Given the description of an element on the screen output the (x, y) to click on. 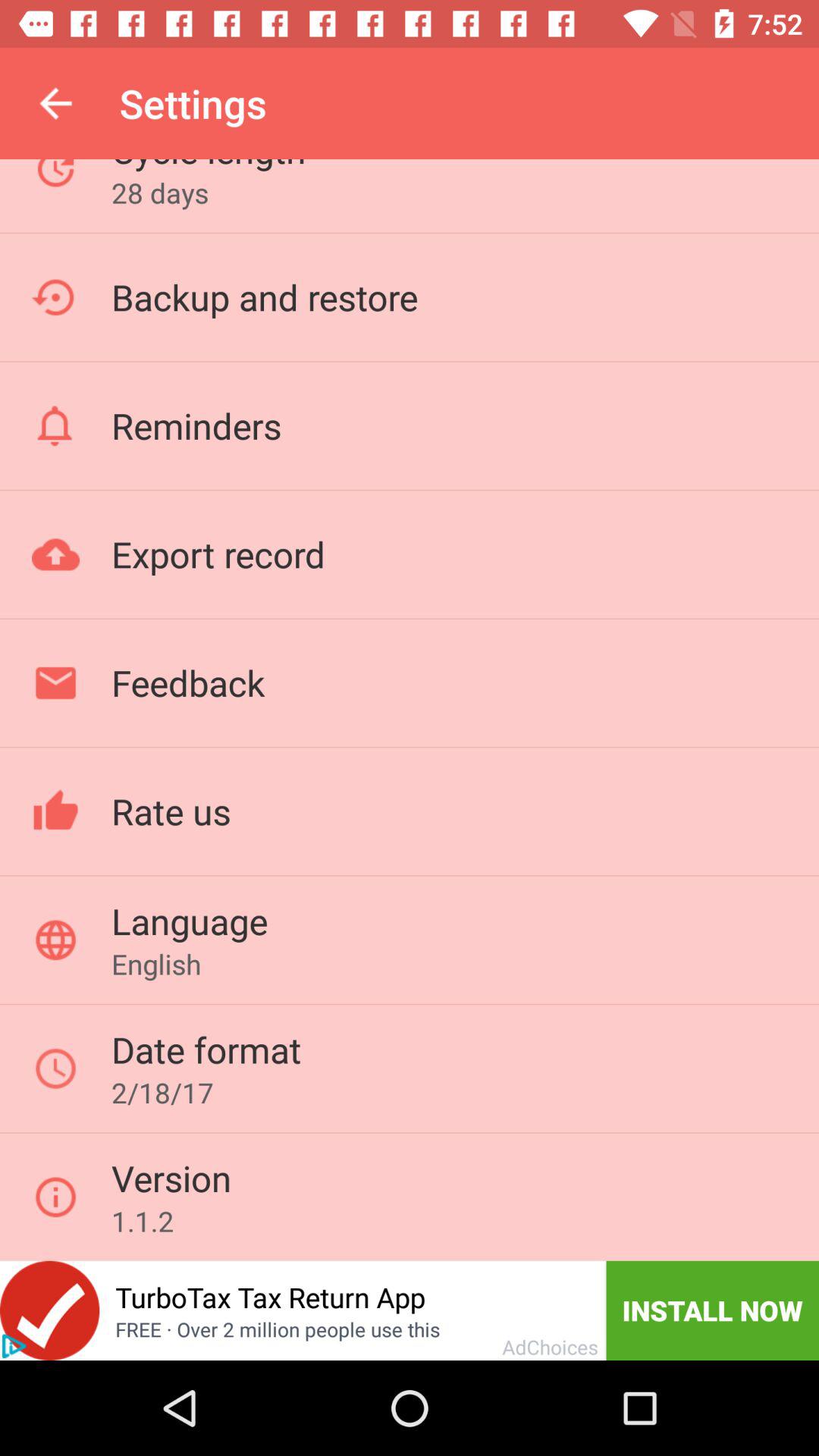
select the icon above export record (196, 425)
